Given the description of an element on the screen output the (x, y) to click on. 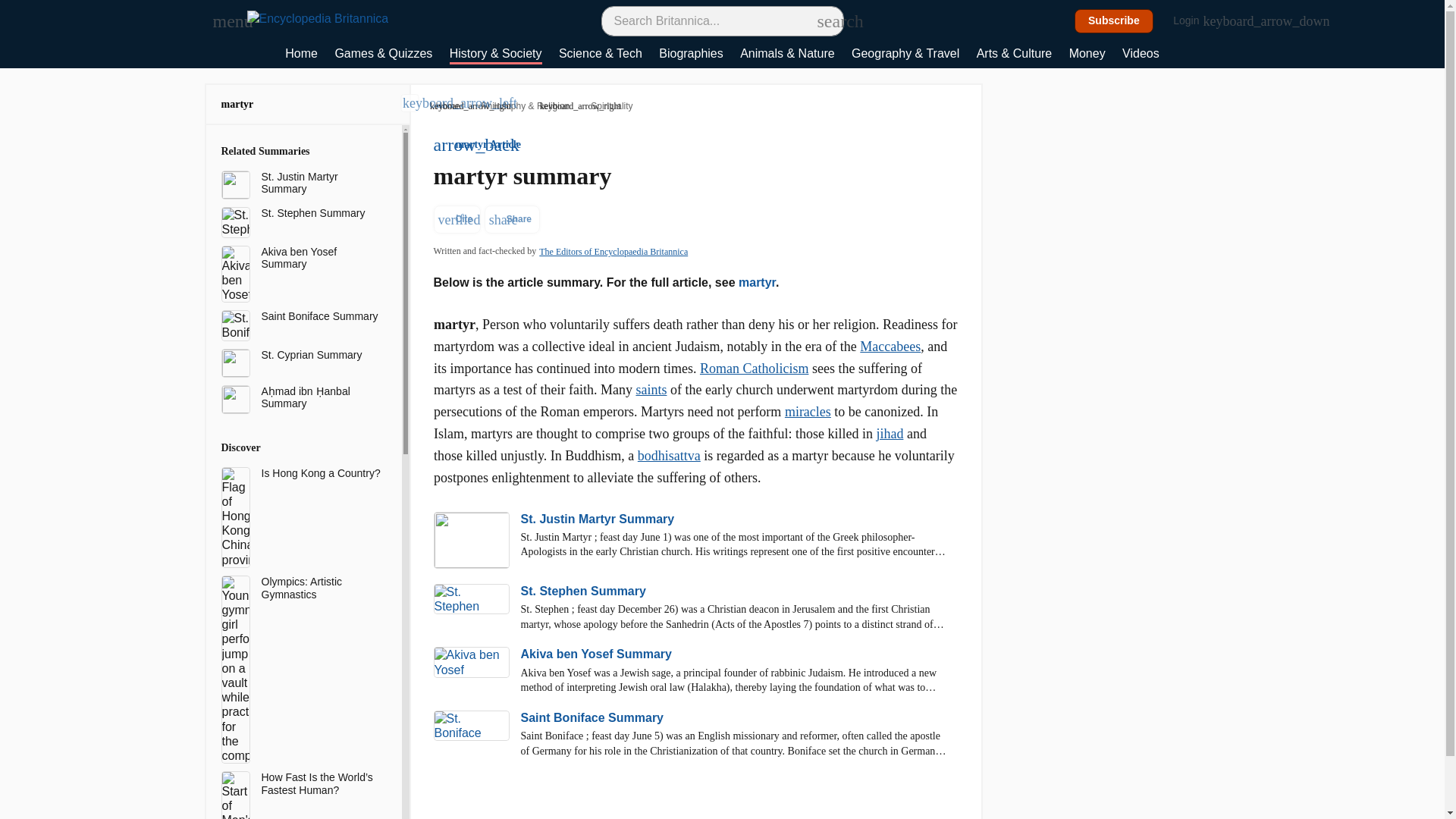
Login (1194, 20)
Subscribe (1114, 21)
Click here to search (825, 20)
